Given the description of an element on the screen output the (x, y) to click on. 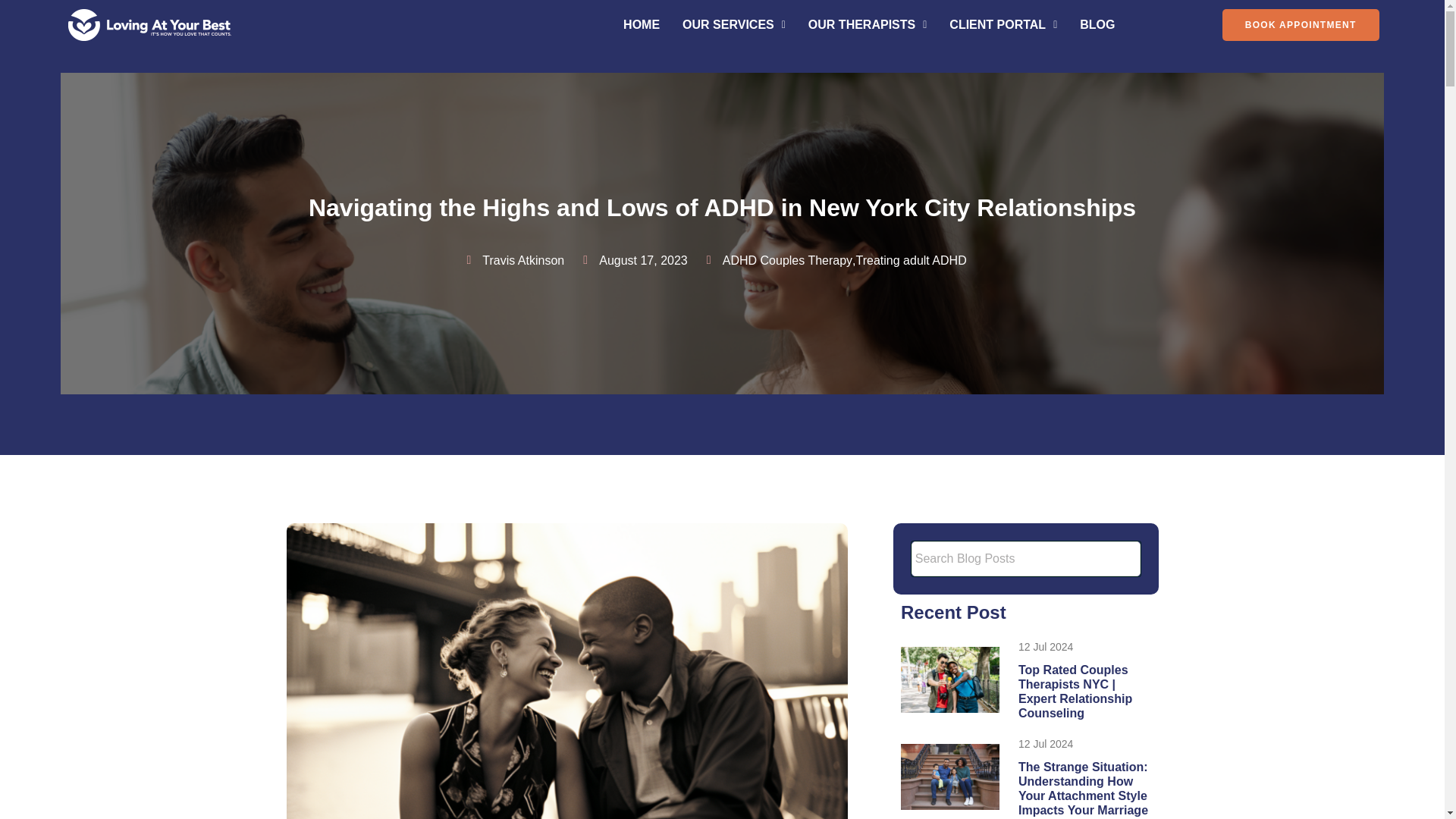
HOME (641, 24)
OUR SERVICES (733, 24)
OUR THERAPISTS (866, 24)
CLIENT PORTAL (1002, 24)
BOOK APPOINTMENT (1300, 24)
BLOG (1096, 24)
Search (1025, 558)
